Given the description of an element on the screen output the (x, y) to click on. 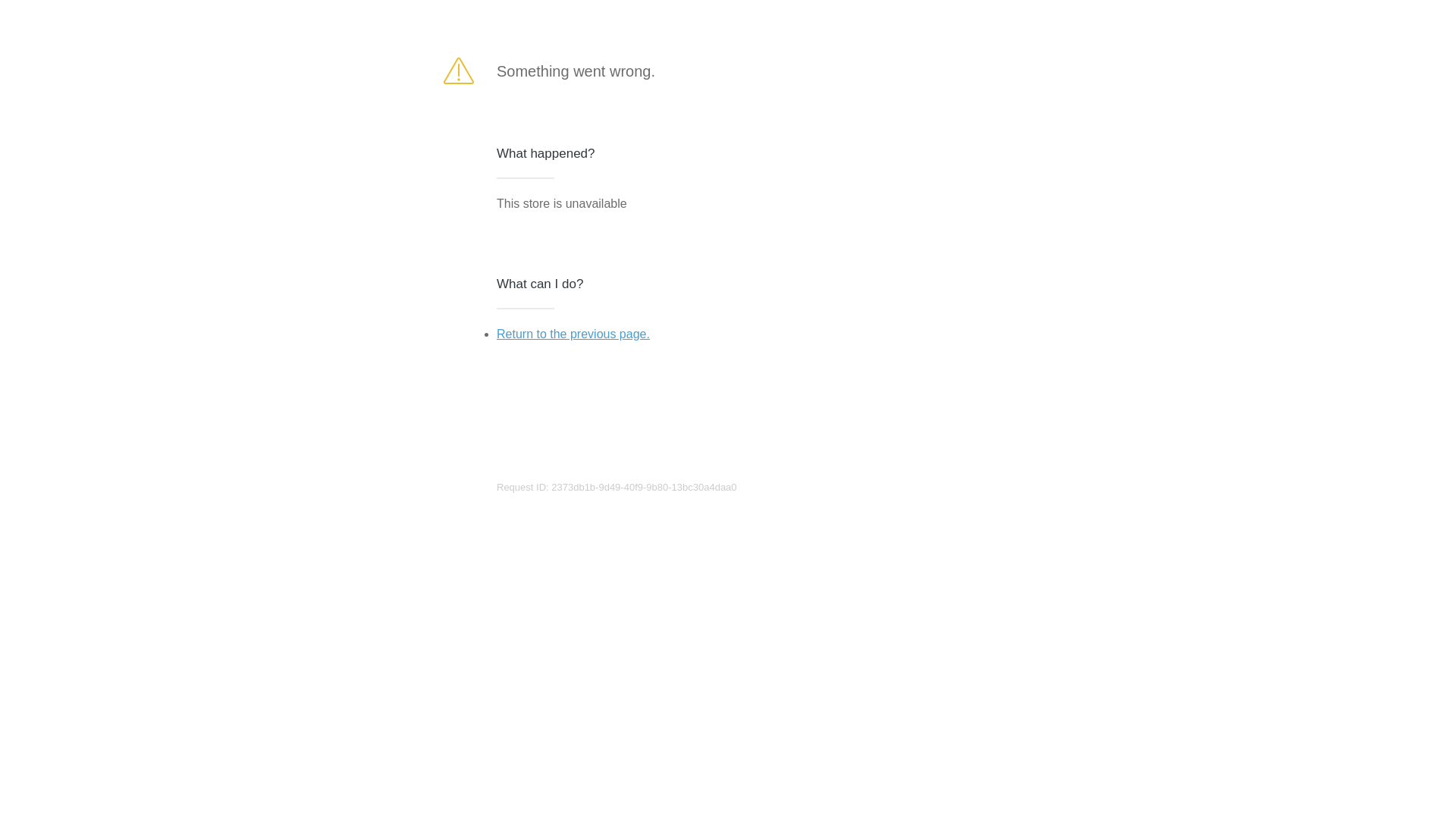
Return to the previous page. Element type: text (572, 333)
